Given the description of an element on the screen output the (x, y) to click on. 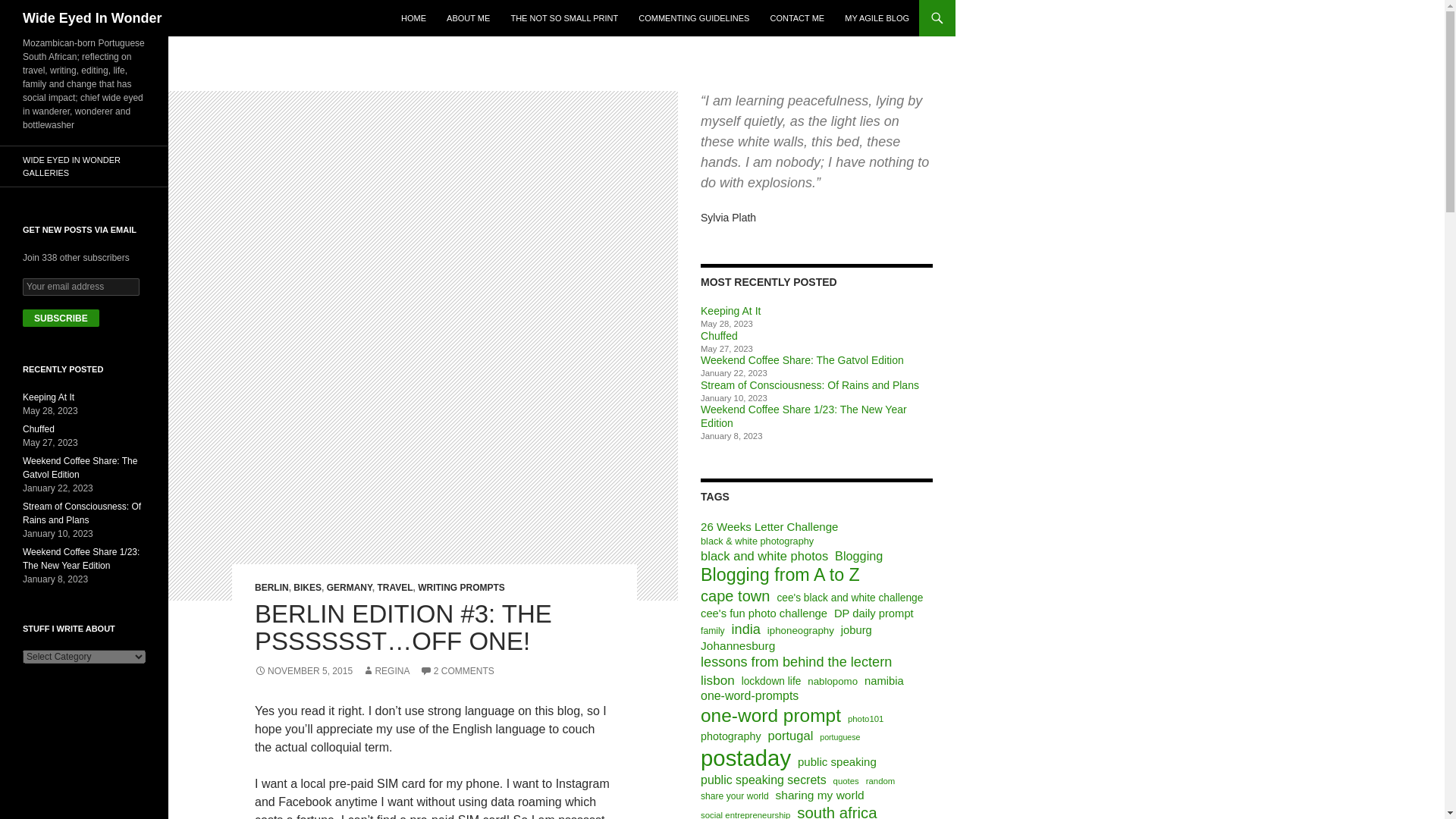
MY AGILE BLOG (876, 18)
26 Weeks Letter Challenge (769, 526)
BERLIN (271, 587)
Weekend Coffee Share: The Gatvol Edition (802, 359)
galleries (84, 166)
Keeping At It (730, 310)
the-agile-way (876, 18)
GERMANY (349, 587)
WRITING PROMPTS (461, 587)
HOME (413, 18)
